Given the description of an element on the screen output the (x, y) to click on. 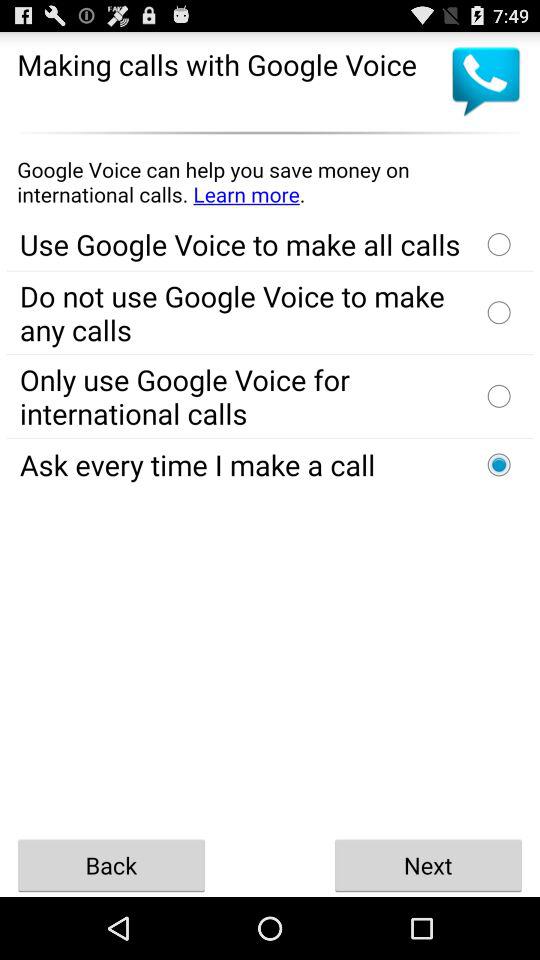
select ask every time i make a call (499, 464)
